Given the description of an element on the screen output the (x, y) to click on. 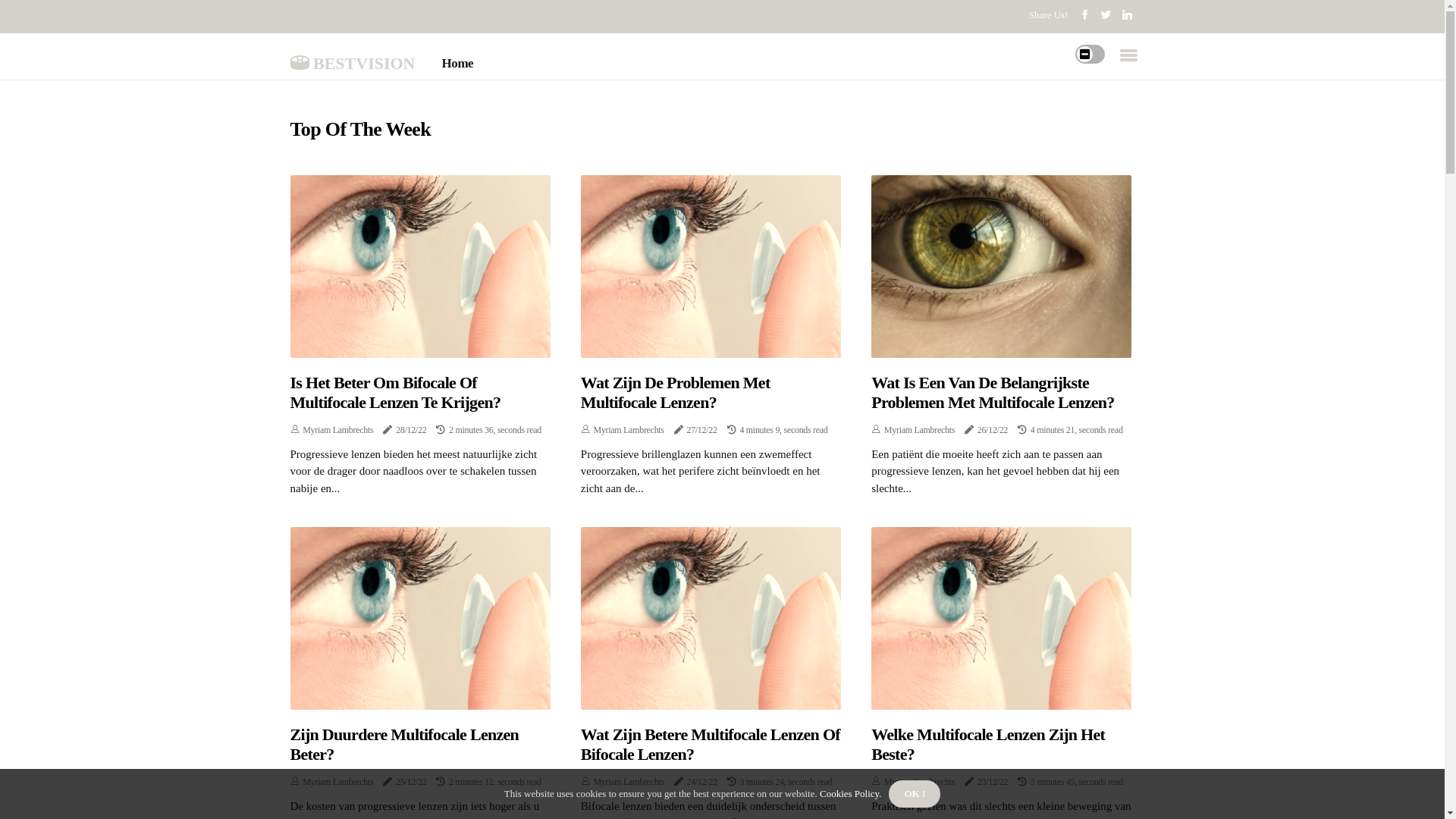
Wat Zijn Betere Multifocale Lenzen Of Bifocale Lenzen? Element type: text (710, 744)
Myriam Lambrechts Element type: text (628, 429)
Wat Zijn De Problemen Met Multifocale Lenzen? Element type: text (710, 393)
Myriam Lambrechts Element type: text (337, 429)
Myriam Lambrechts Element type: text (919, 429)
Myriam Lambrechts Element type: text (337, 781)
Myriam Lambrechts Element type: text (628, 781)
Cookies Policy Element type: text (848, 793)
bestvision Element type: text (351, 59)
Home Element type: text (457, 63)
Myriam Lambrechts Element type: text (919, 781)
Zijn Duurdere Multifocale Lenzen Beter? Element type: text (419, 744)
Is Het Beter Om Bifocale Of Multifocale Lenzen Te Krijgen? Element type: text (419, 393)
Welke Multifocale Lenzen Zijn Het Beste? Element type: text (1001, 744)
